Given the description of an element on the screen output the (x, y) to click on. 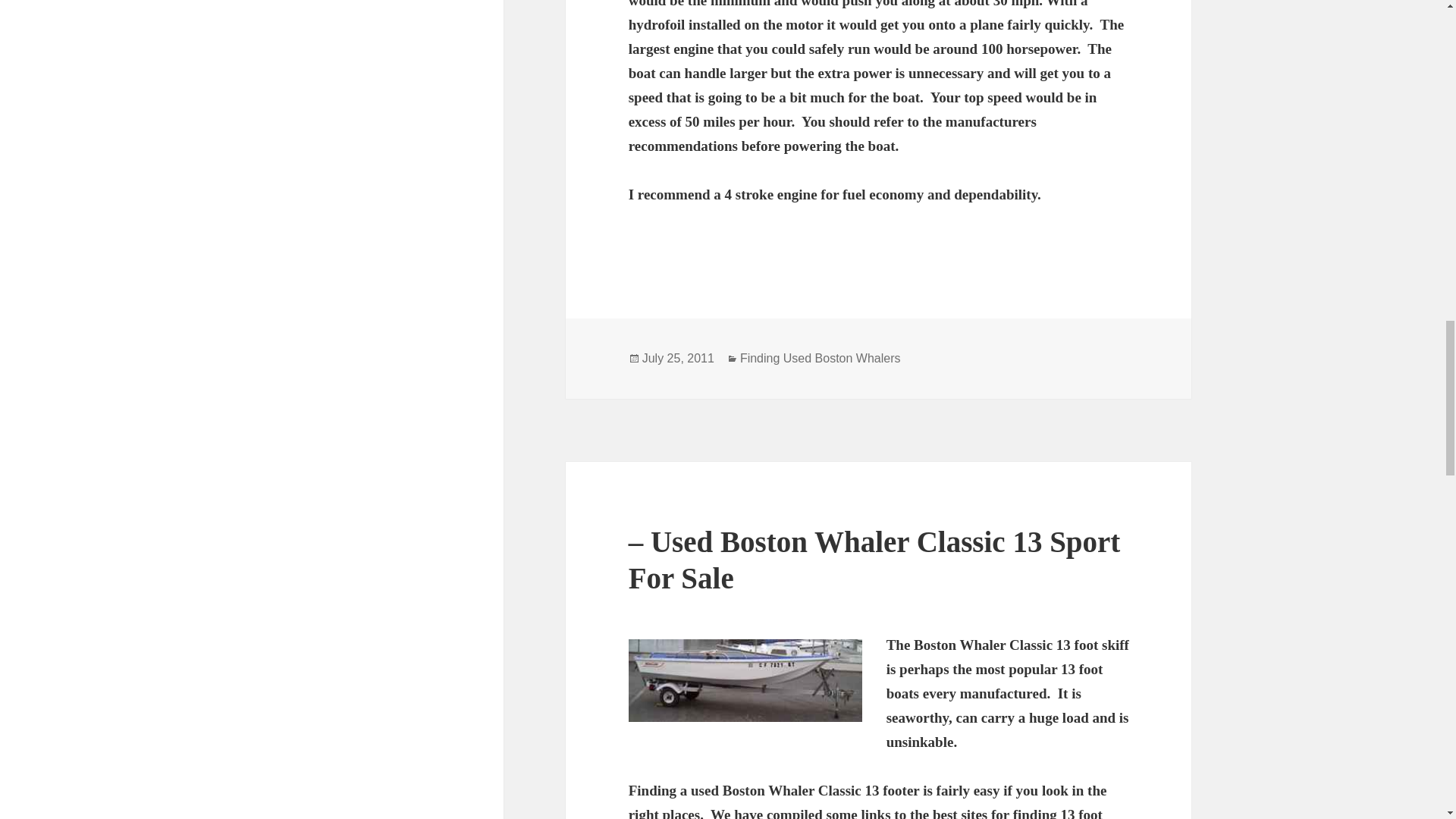
Finding Used Boston Whalers (820, 358)
July 25, 2011 (678, 358)
13 foot boston whaler for sale (744, 680)
